Given the description of an element on the screen output the (x, y) to click on. 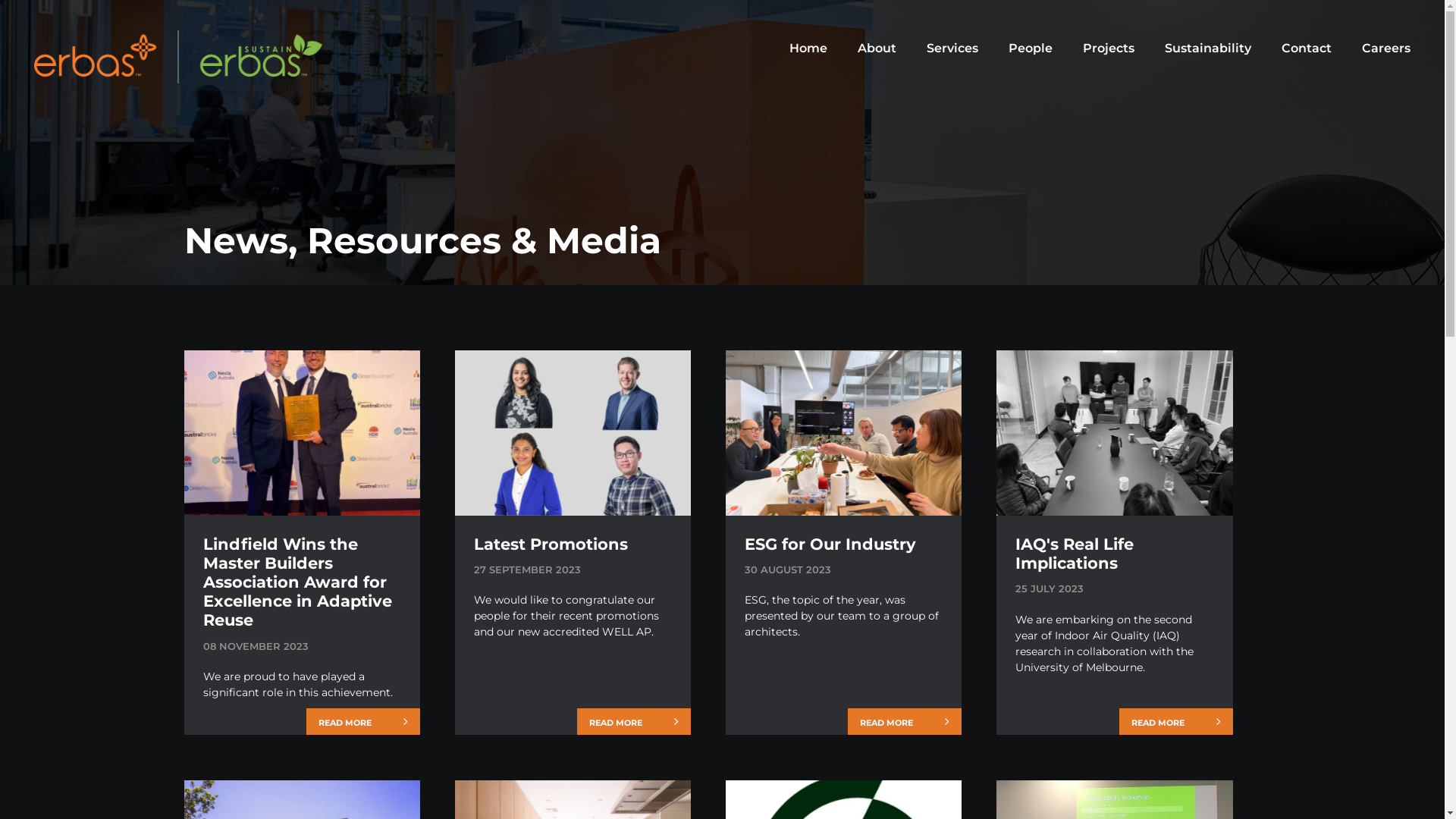
Sustainability Element type: text (1207, 48)
About Element type: text (876, 48)
READ MORE Element type: text (633, 721)
Latest Promotions Element type: text (572, 548)
Services Element type: text (952, 48)
READ MORE Element type: text (1176, 721)
People Element type: text (1030, 48)
Careers Element type: text (1385, 48)
READ MORE Element type: text (904, 721)
Projects Element type: text (1108, 48)
ESG for Our Industry Element type: text (843, 548)
IAQ's Real Life Implications Element type: text (1114, 557)
READ MORE Element type: text (363, 721)
Contact Element type: text (1306, 48)
Home Element type: text (808, 48)
